Given the description of an element on the screen output the (x, y) to click on. 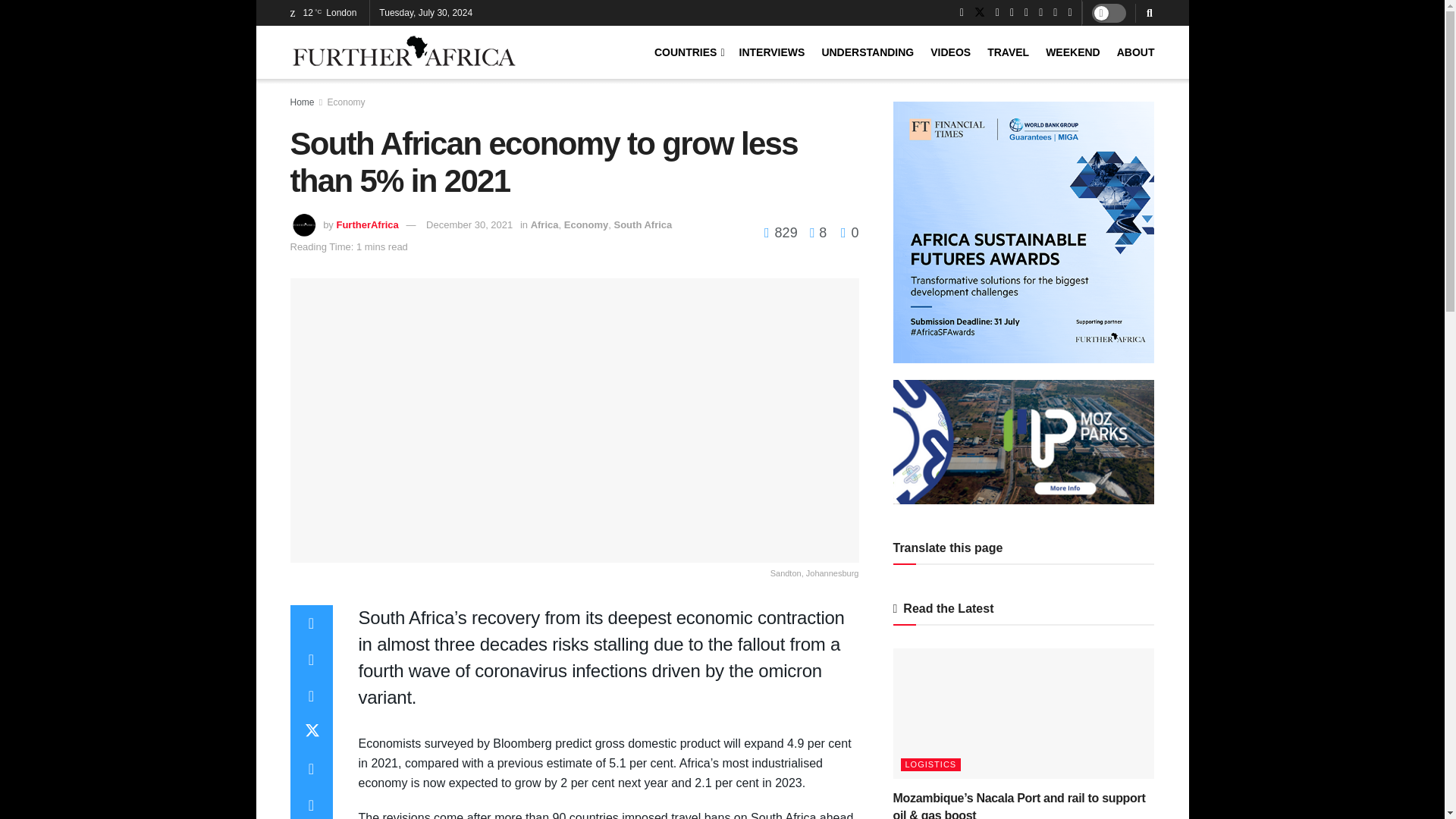
WEEKEND (1072, 51)
COUNTRIES (687, 51)
UNDERSTANDING (867, 51)
INTERVIEWS (772, 51)
